Given the description of an element on the screen output the (x, y) to click on. 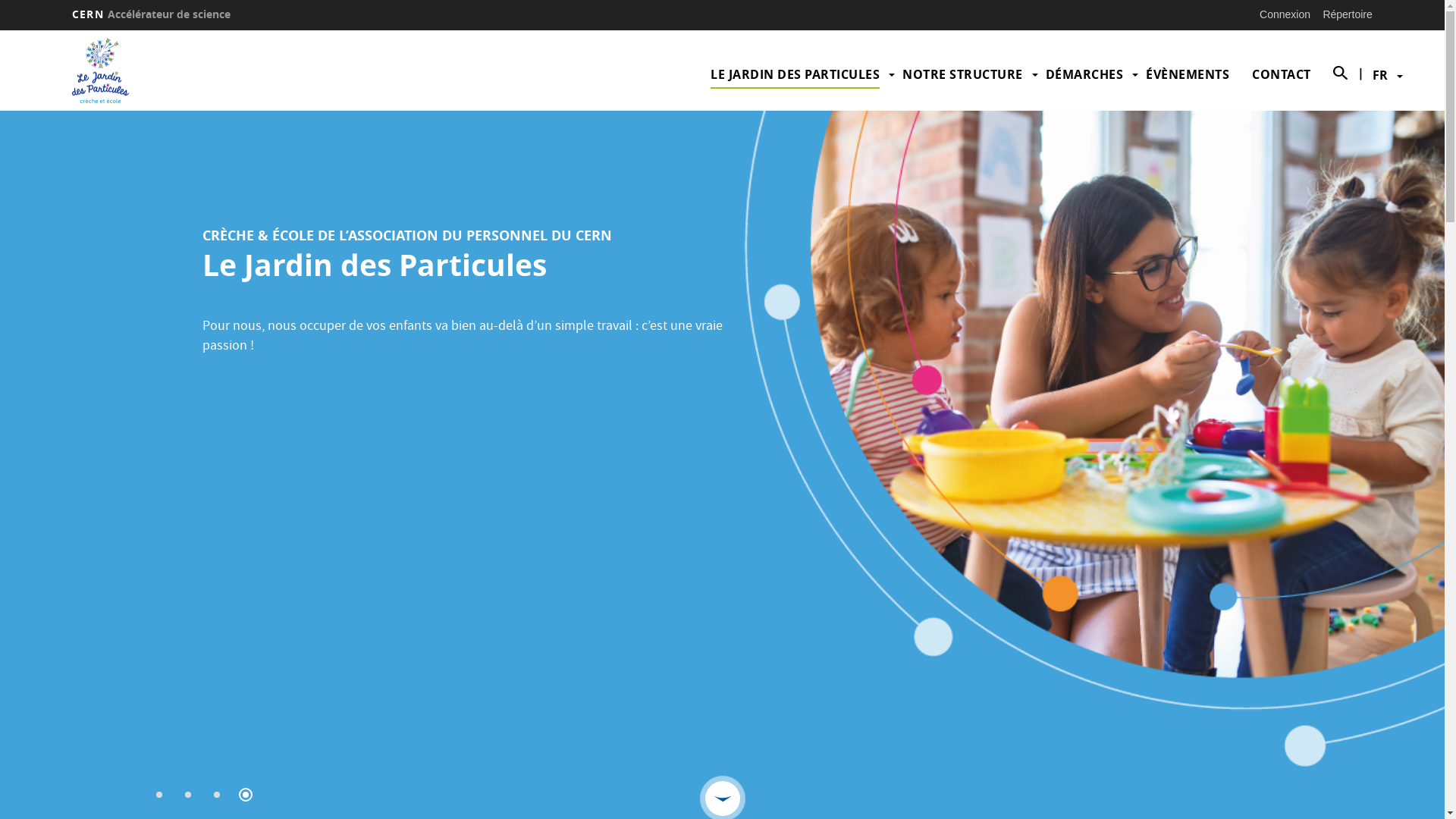
NOTRE STRUCTURE Element type: text (962, 74)
SEARCH Element type: text (1334, 74)
|
FR Element type: text (1379, 74)
LE JARDIN DES PARTICULES Element type: text (794, 74)
Connexion Element type: text (1284, 14)
CONTACT Element type: text (1281, 74)
Accueil Element type: hover (95, 70)
Aller au contenu principal Element type: text (0, 30)
